Given the description of an element on the screen output the (x, y) to click on. 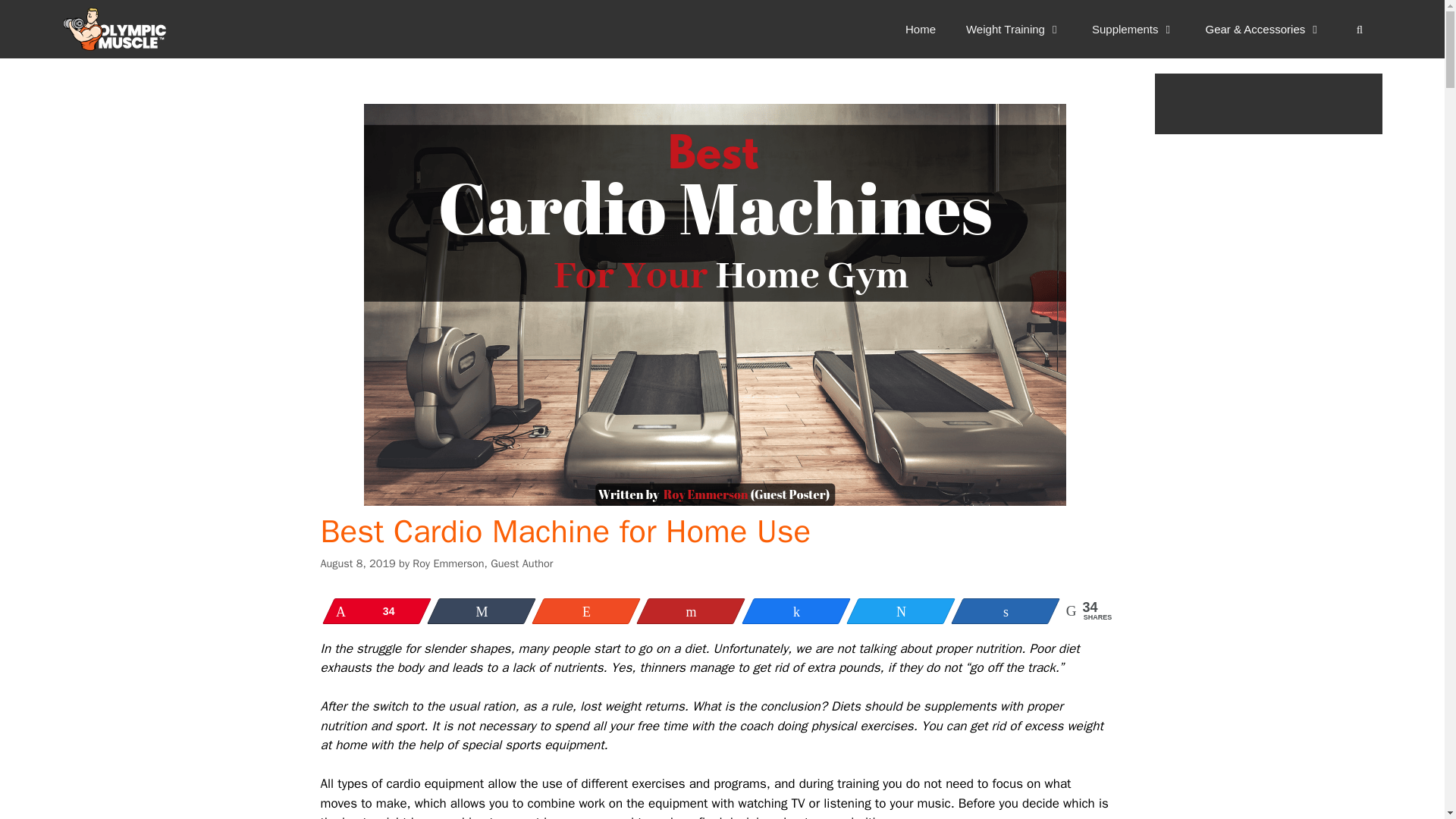
Olympic Muscle (117, 29)
View all posts by Roy Emmerson, Guest Author (482, 563)
Olympic Muscle (113, 29)
